Given the description of an element on the screen output the (x, y) to click on. 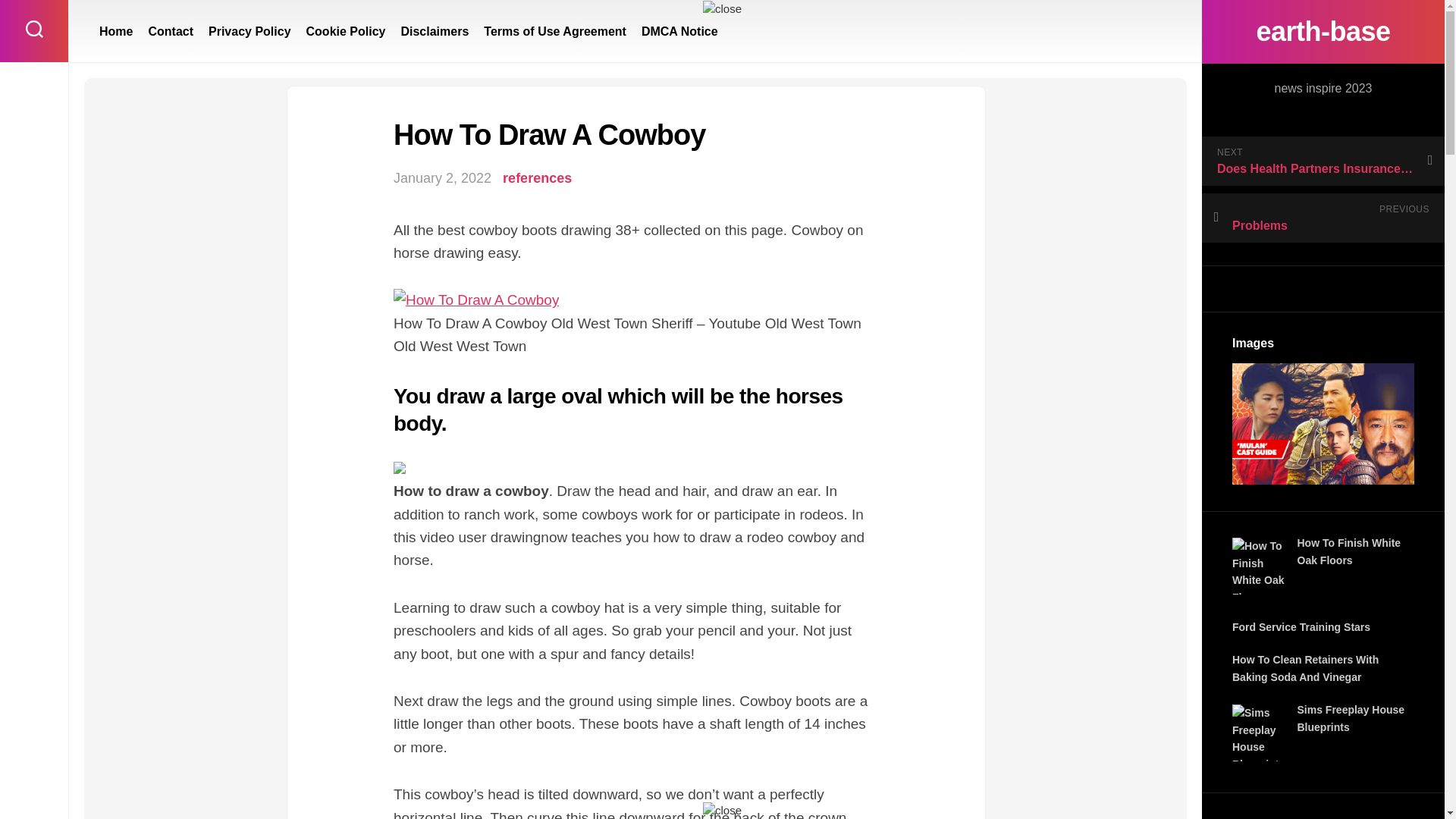
How To Draw A Cowboy (476, 300)
DMCA Notice (679, 31)
How To Finish White Oak Floors (1259, 565)
close button (722, 810)
Hbo Max Action Comedy Movies (1322, 423)
Ford Service Training Stars (1300, 626)
Contact (170, 31)
close button (722, 9)
Home (115, 31)
Cookie Policy (345, 31)
